Given the description of an element on the screen output the (x, y) to click on. 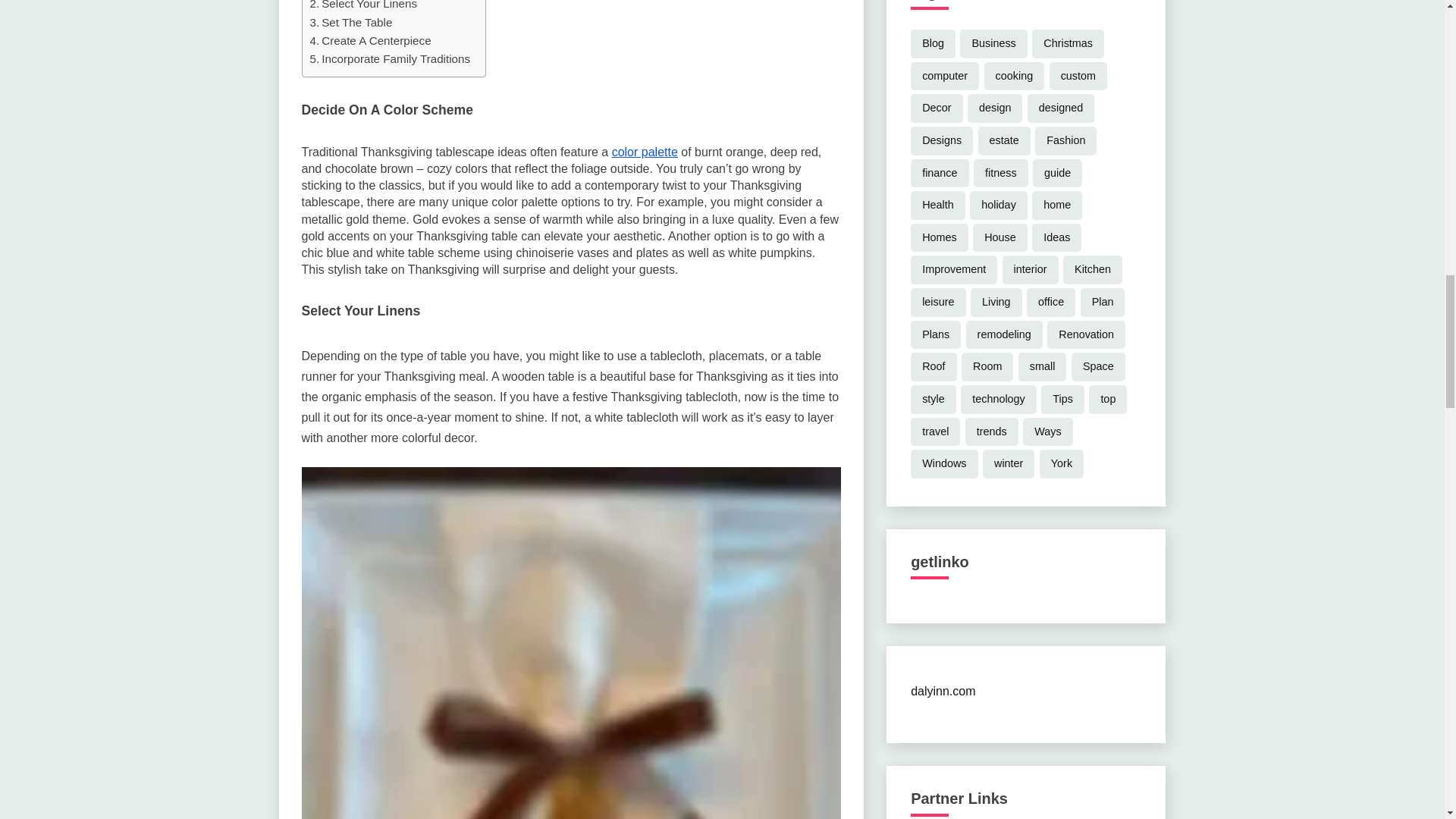
Incorporate Family Traditions (389, 58)
color palette (644, 151)
Incorporate Family Traditions (389, 58)
Set The Table (349, 22)
Create A Centerpiece (369, 40)
Create A Centerpiece (369, 40)
Select Your Linens (362, 6)
Select Your Linens (362, 6)
Set The Table (349, 22)
